Given the description of an element on the screen output the (x, y) to click on. 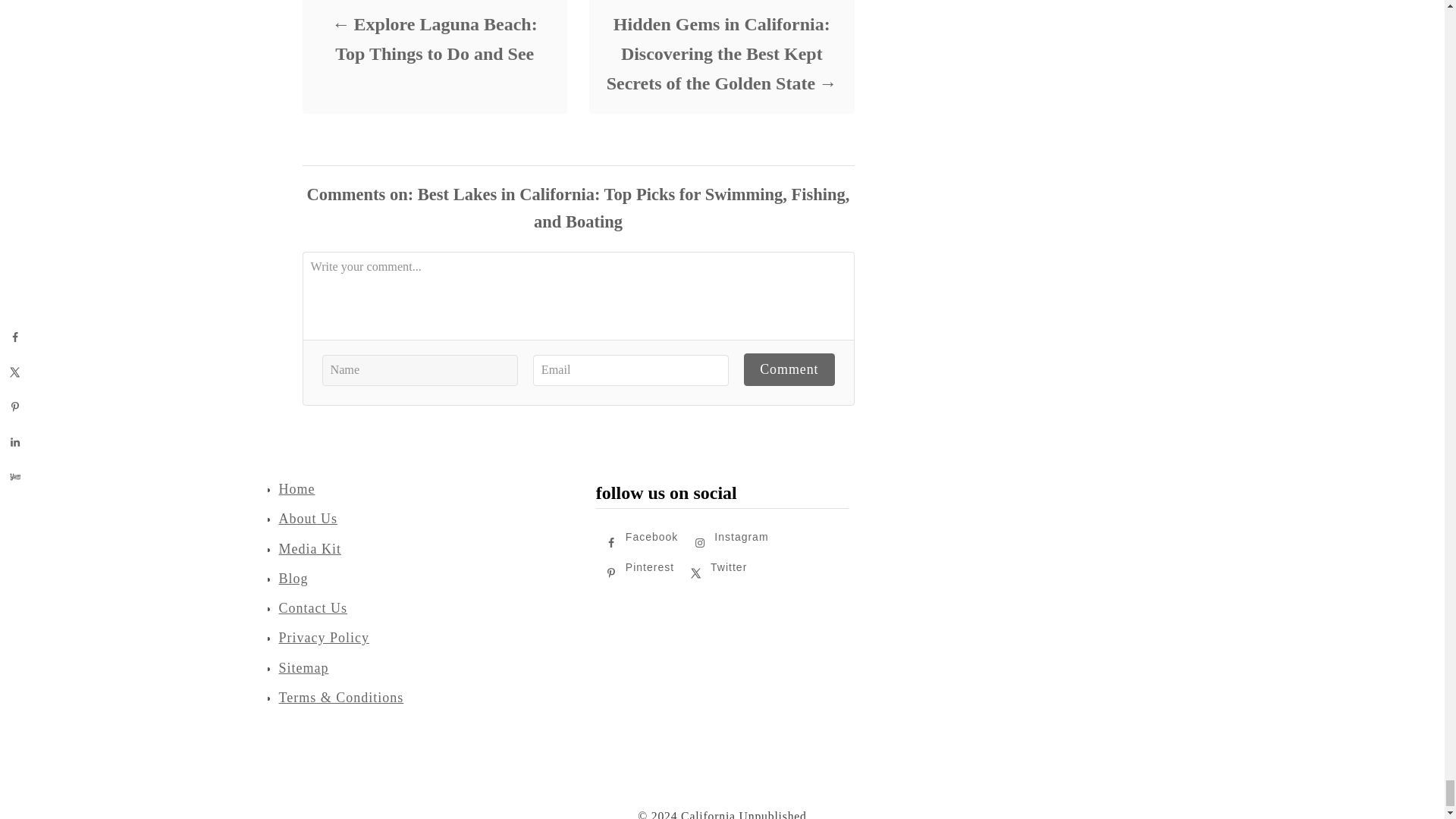
Comment (789, 368)
Explore Laguna Beach: Top Things to Do and See (434, 38)
